Given the description of an element on the screen output the (x, y) to click on. 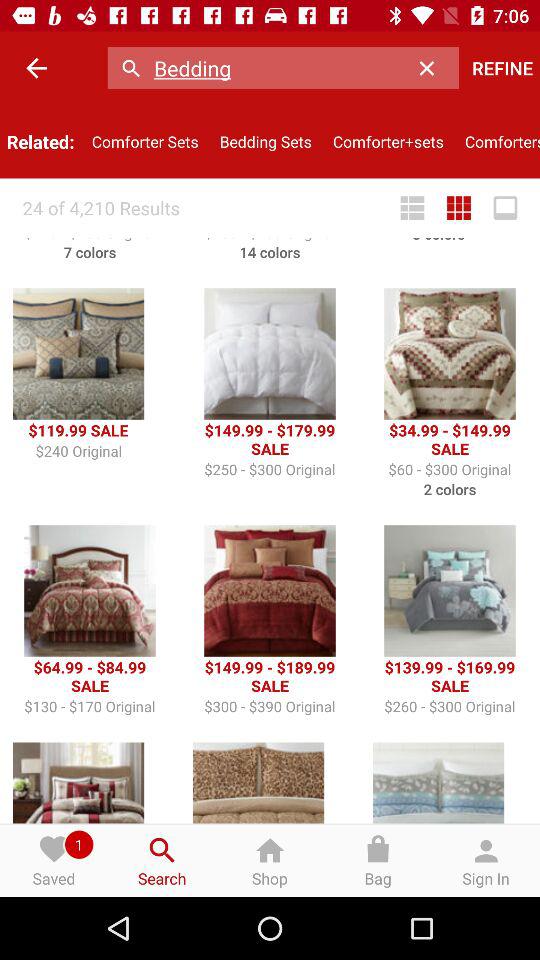
turn off the icon next to comforter sets item (265, 141)
